Given the description of an element on the screen output the (x, y) to click on. 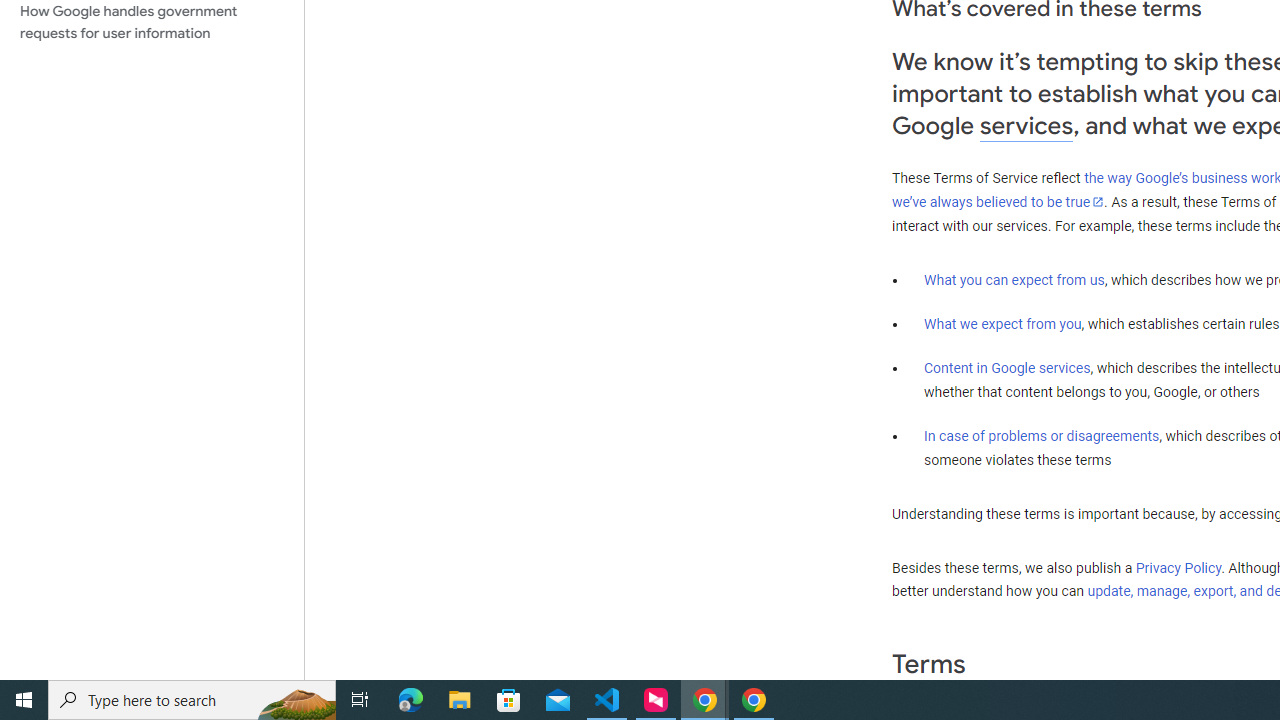
What you can expect from us (1014, 279)
In case of problems or disagreements (1041, 435)
services (1026, 125)
Content in Google services (1007, 368)
What we expect from you (1002, 323)
